Given the description of an element on the screen output the (x, y) to click on. 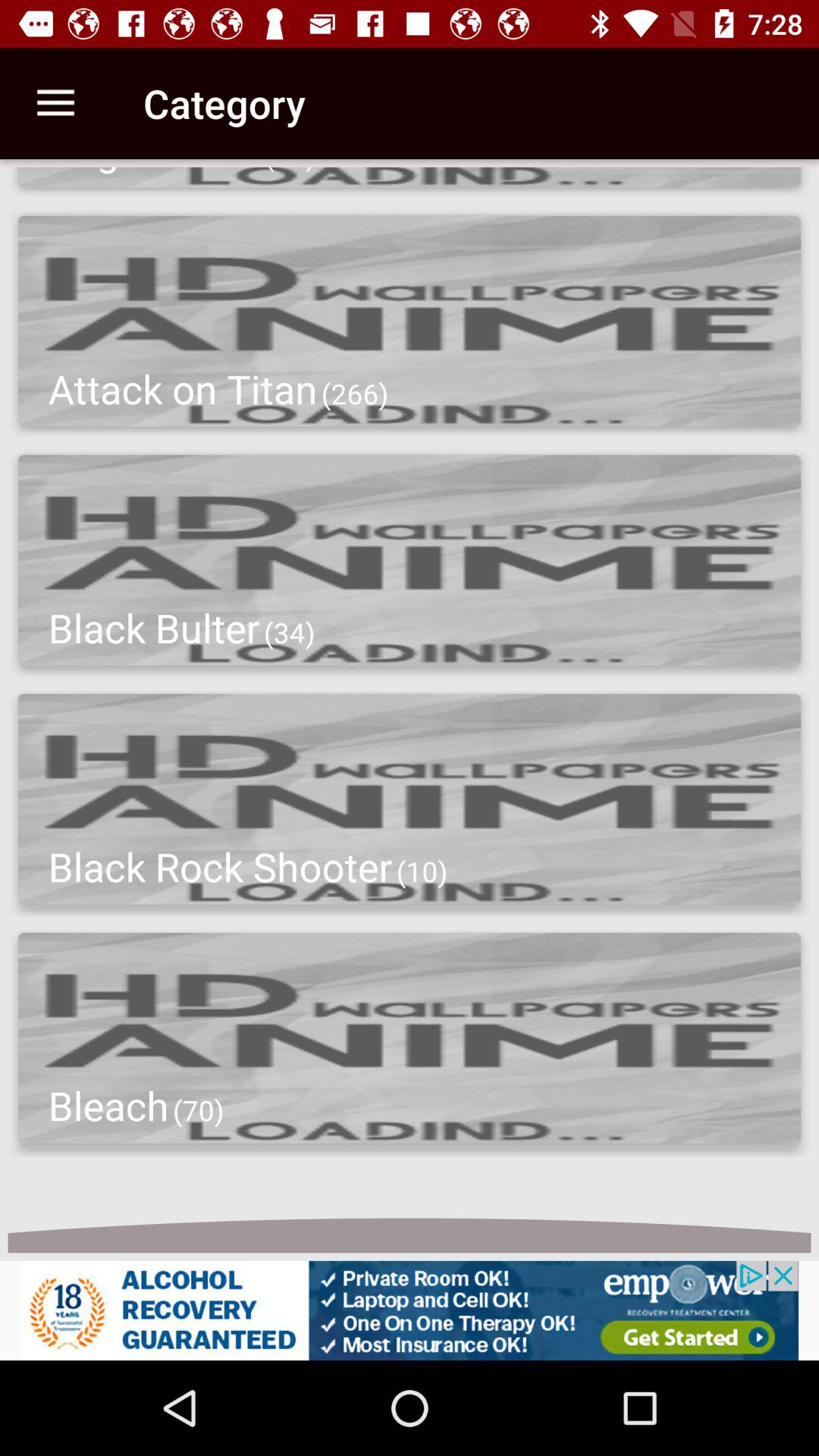
go to closed (409, 1310)
